Given the description of an element on the screen output the (x, y) to click on. 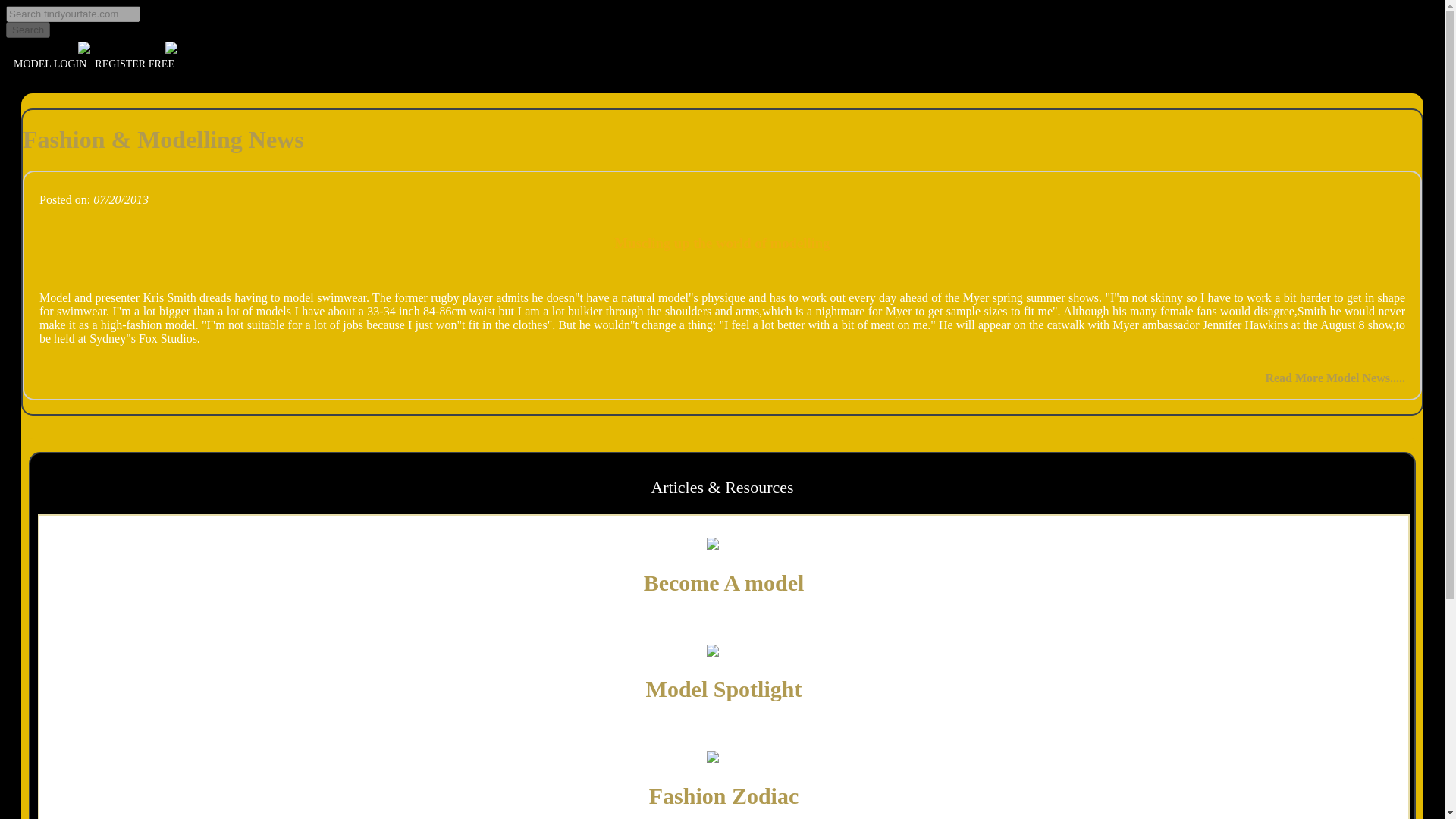
Search (27, 29)
REGISTER FREE (133, 62)
Read More Model News..... (1335, 377)
Search (27, 29)
Man (723, 544)
Model Spotlight (724, 688)
Man (723, 757)
Fashion Zodiac (724, 795)
Become A model (724, 582)
MODEL LOGIN (46, 63)
Man (723, 651)
Search (27, 29)
